Given the description of an element on the screen output the (x, y) to click on. 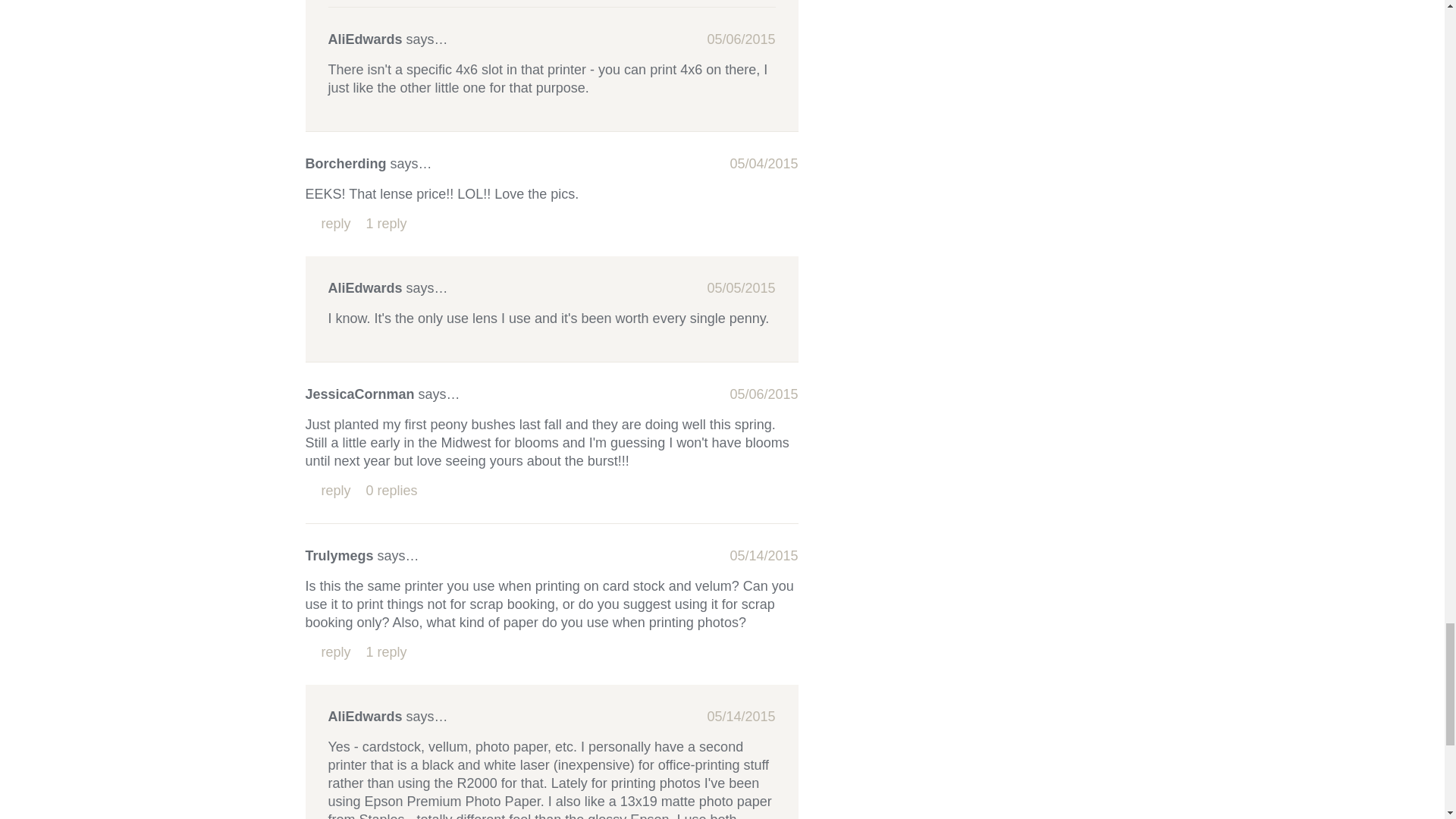
2015-05-05T12:29:09-04:00 (740, 287)
2015-05-06T14:18:04-04:00 (740, 38)
2015-05-04T23:57:32-04:00 (763, 163)
